Given the description of an element on the screen output the (x, y) to click on. 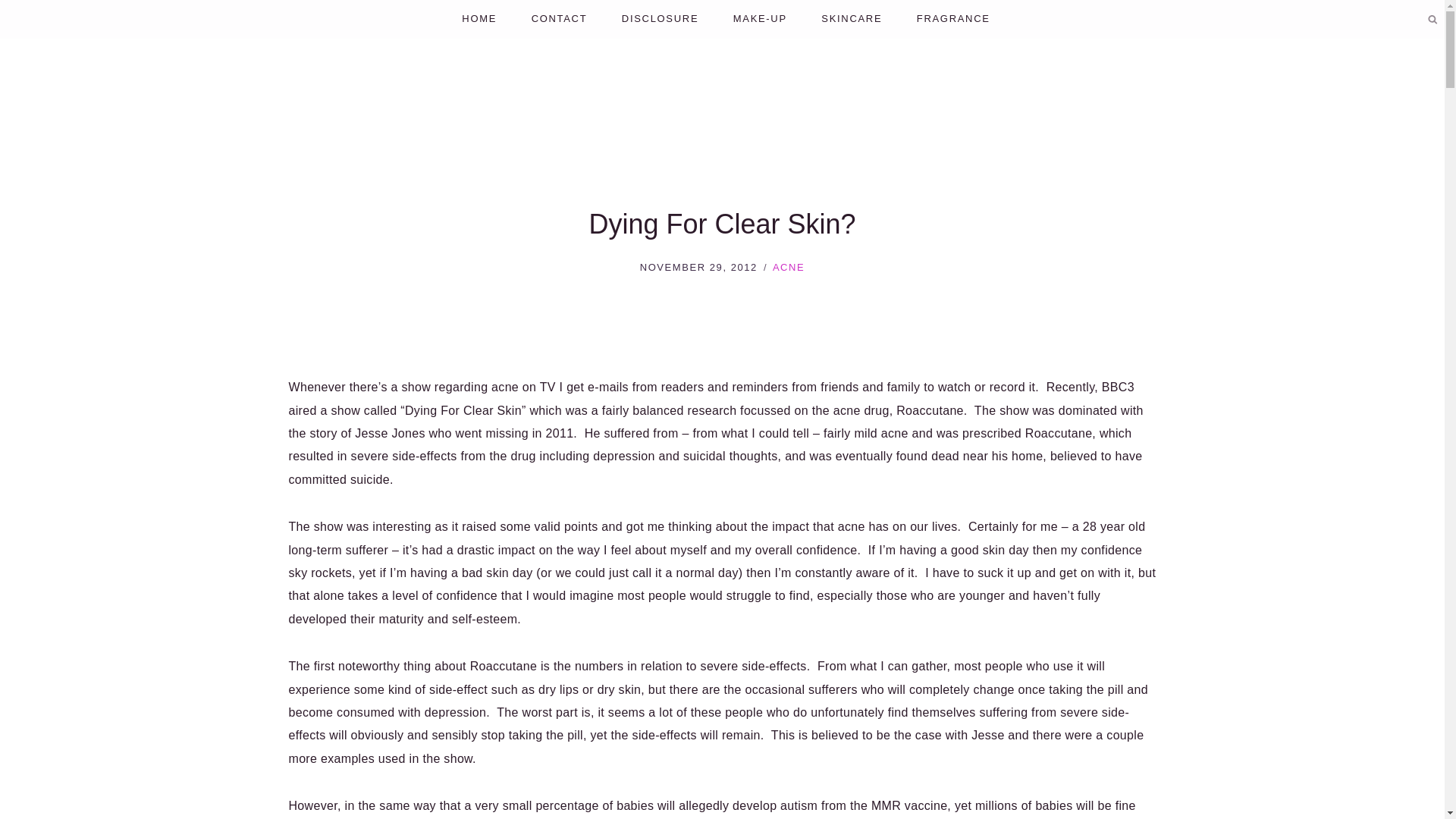
SKINCARE (852, 19)
CONTACT (558, 19)
MAKE-UP (760, 19)
ACNE (789, 266)
HOME (479, 19)
FRAGRANCE (953, 19)
DISCLOSURE (660, 19)
